Given the description of an element on the screen output the (x, y) to click on. 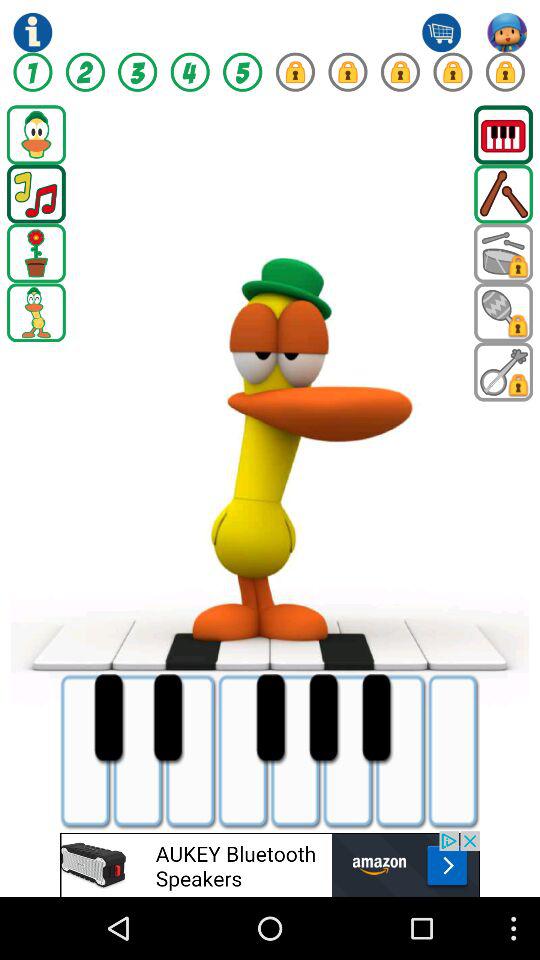
go to item 2 (85, 71)
